Given the description of an element on the screen output the (x, y) to click on. 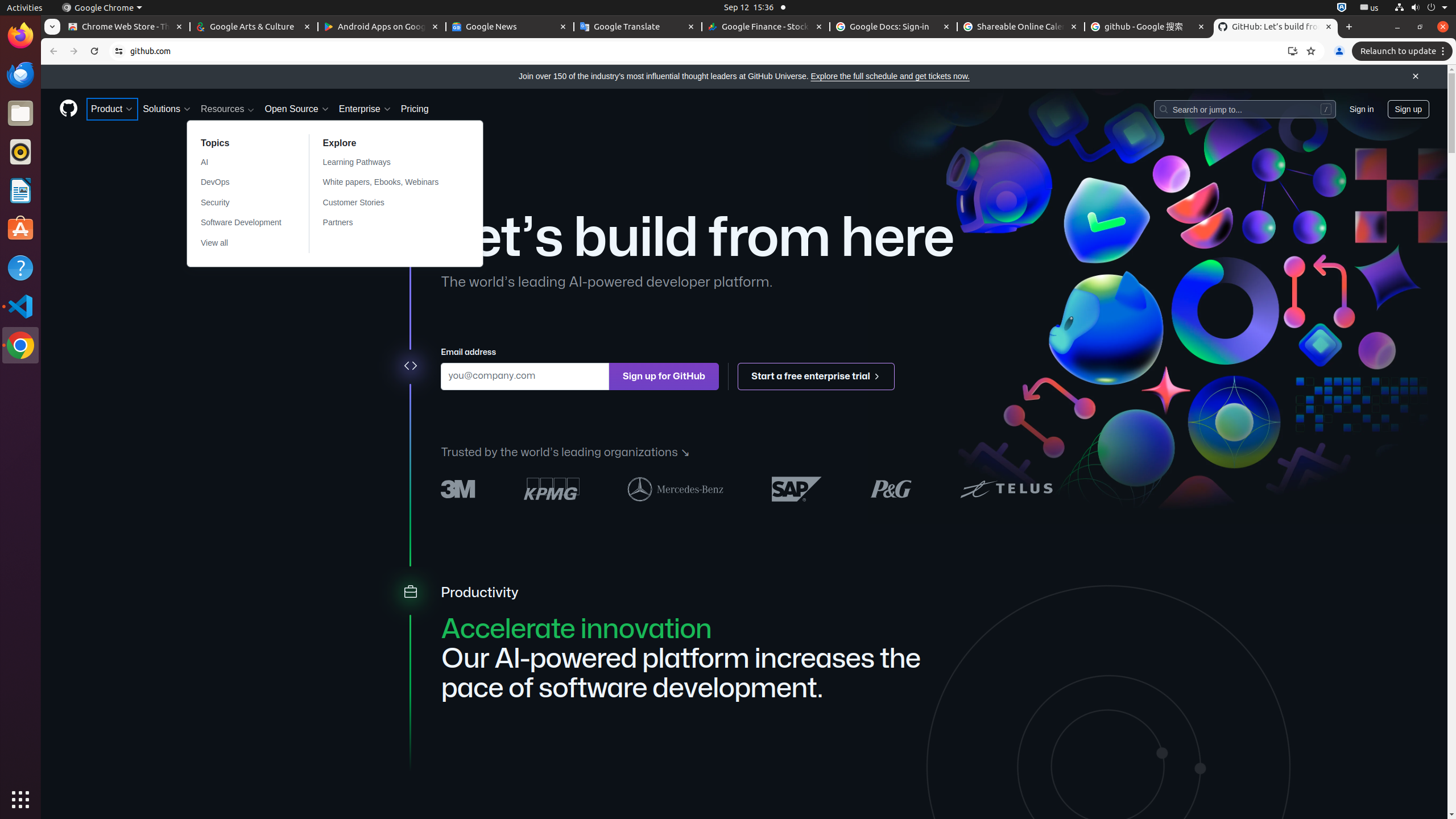
Learning Pathways Element type: link (387, 161)
:1.72/StatusNotifierItem Element type: menu (1341, 7)
:1.21/StatusNotifierItem Element type: menu (1369, 7)
Security Element type: link (240, 202)
You Element type: push-button (1339, 50)
